Given the description of an element on the screen output the (x, y) to click on. 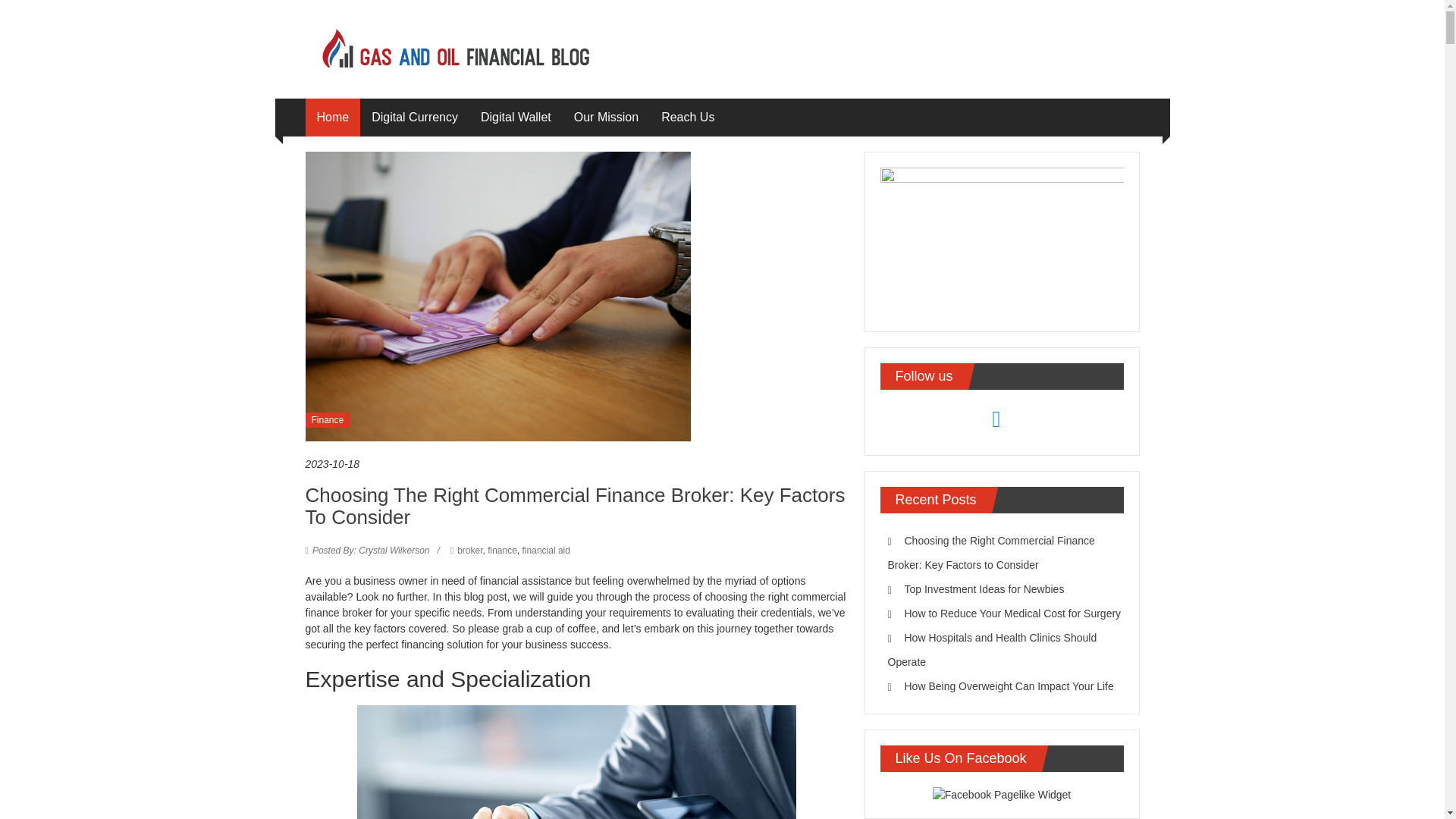
Reach Us (687, 117)
financial aid (546, 550)
Posted By: Crystal Wilkerson (371, 550)
Crystal Wilkerson (371, 550)
Our Mission (606, 117)
broker (469, 550)
Digital Currency (414, 117)
